Given the description of an element on the screen output the (x, y) to click on. 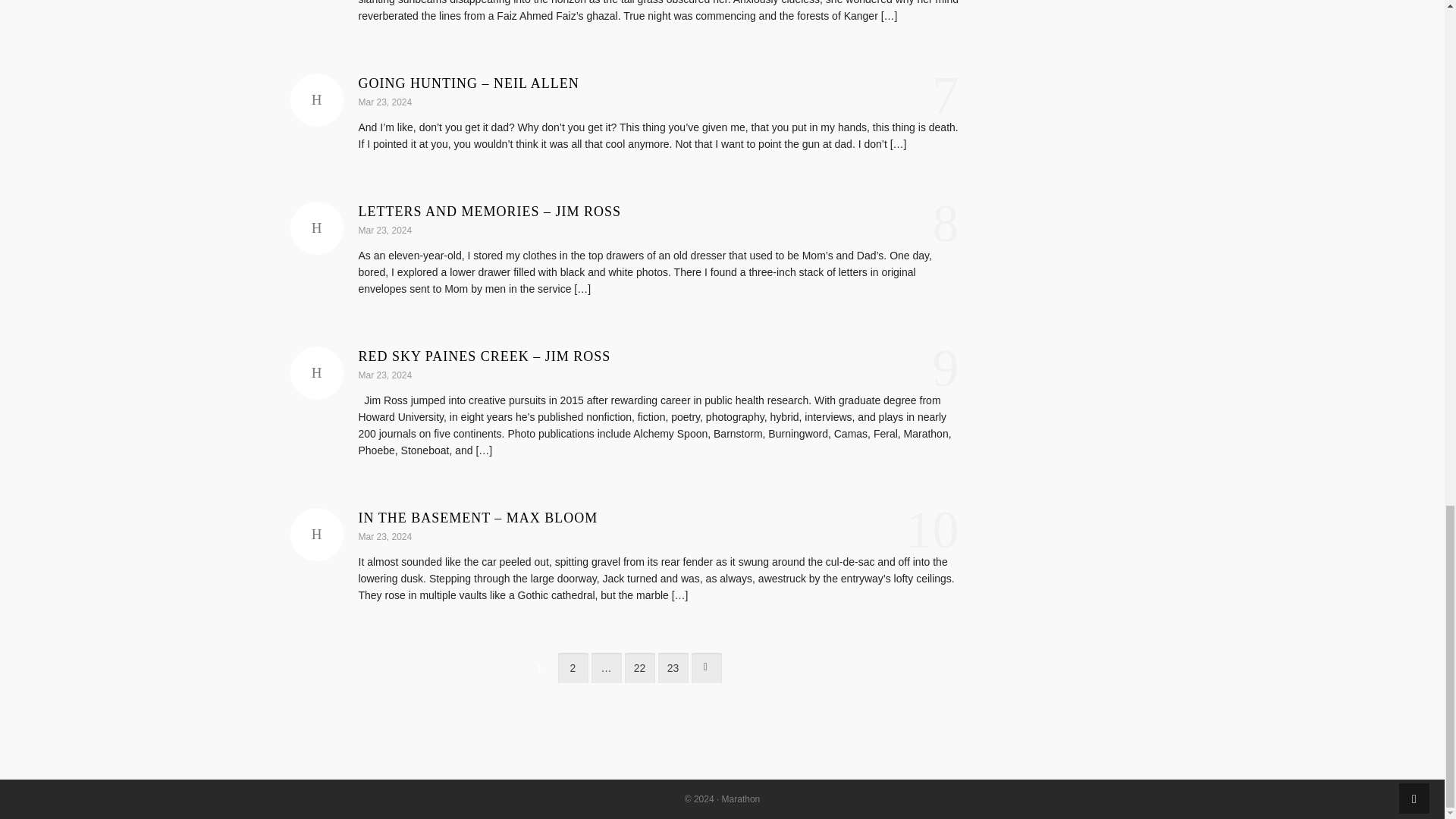
2 (572, 667)
23 (673, 667)
22 (639, 667)
